Given the description of an element on the screen output the (x, y) to click on. 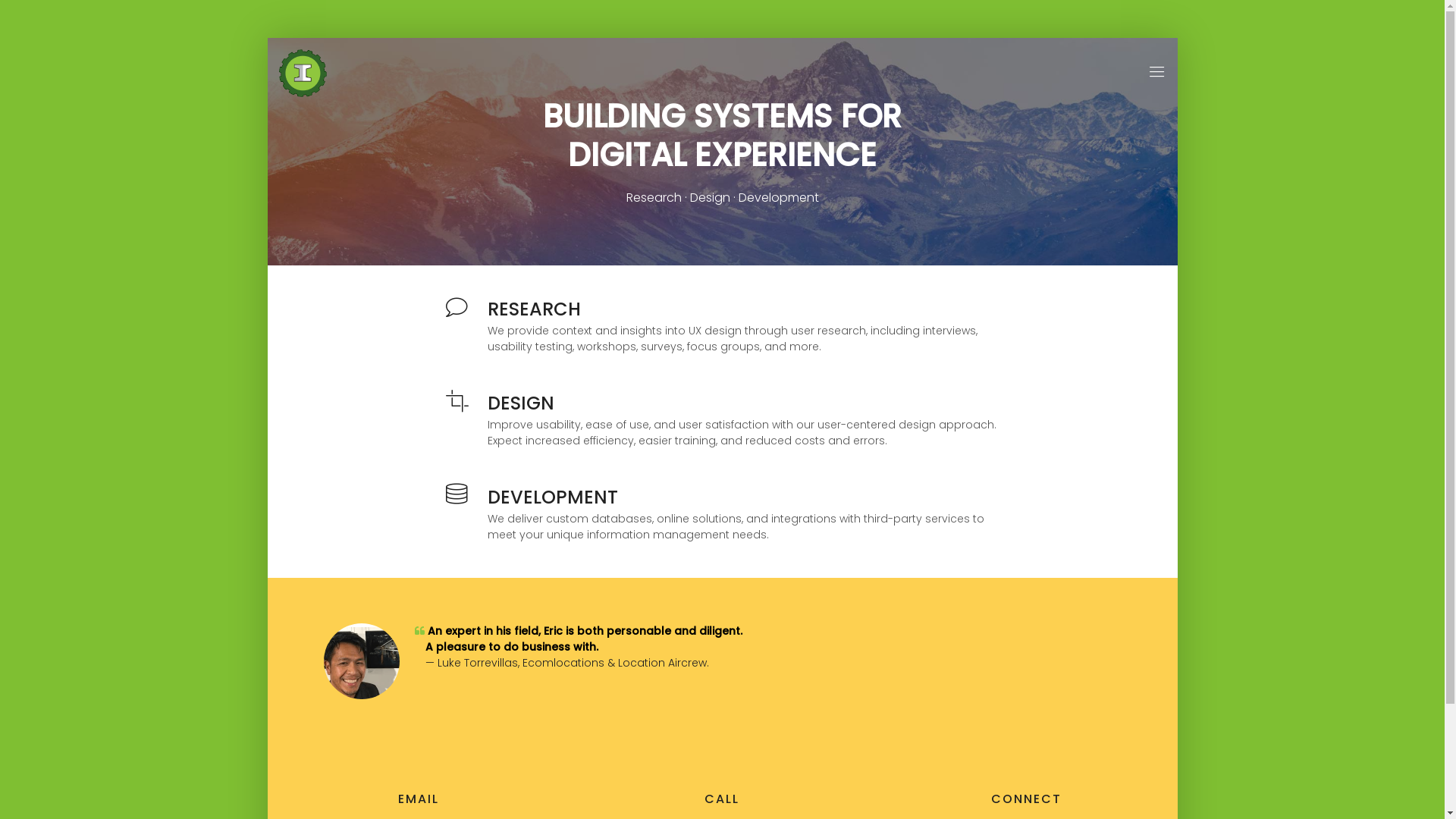
HOME Element type: text (1107, 81)
SERVICES Element type: text (1115, 81)
CONTACT Element type: text (1118, 81)
TESTIMONIALS Element type: text (1126, 81)
